Given the description of an element on the screen output the (x, y) to click on. 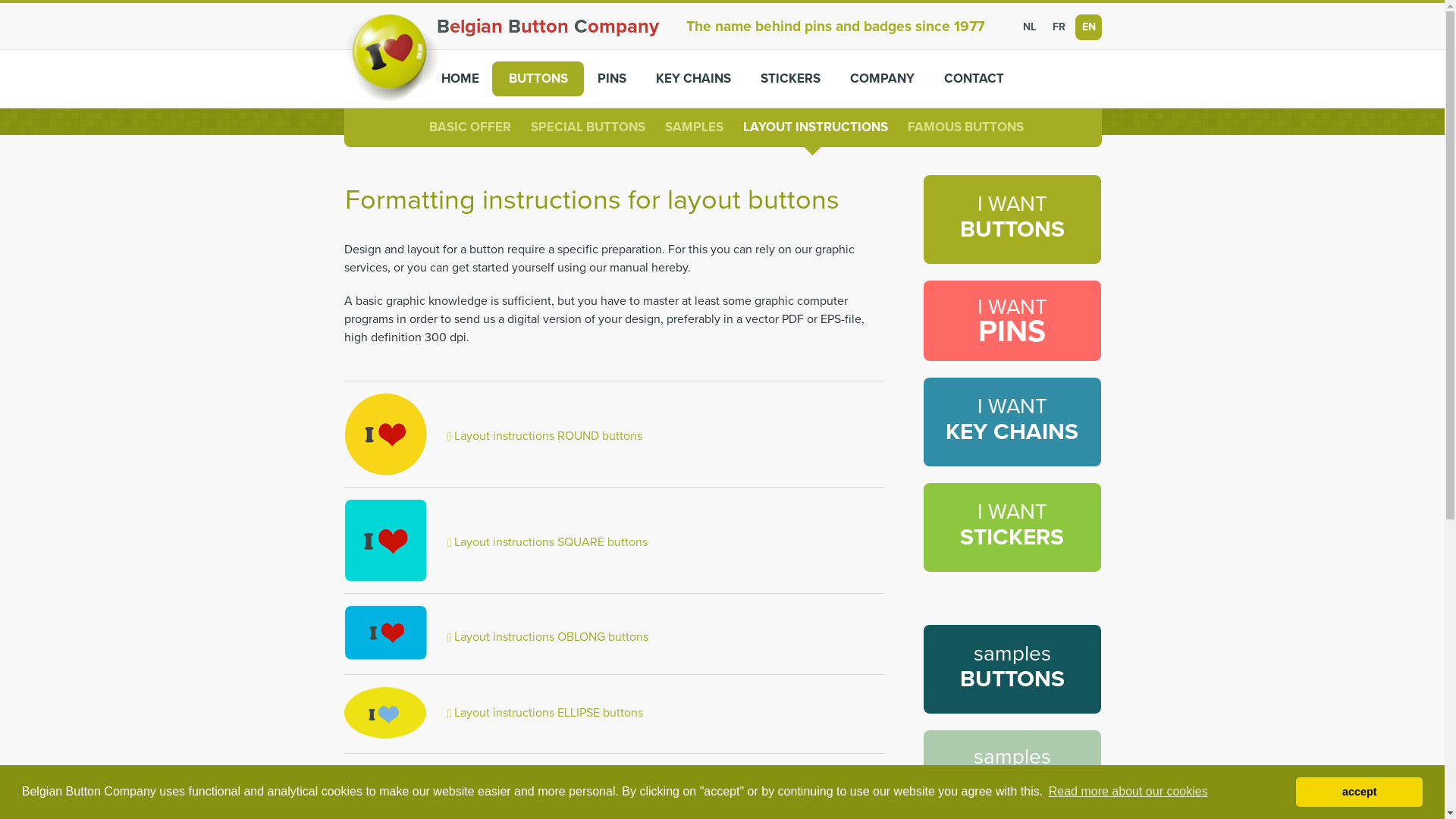
LAYOUT INSTRUCTIONS Element type: text (815, 127)
I WANT
STICKERS Element type: text (1012, 527)
I WANT
BUTTONS Element type: text (1012, 219)
NL Element type: text (1028, 27)
FAMOUS BUTTONS Element type: text (965, 127)
PINS Element type: text (611, 78)
I WANT
KEY CHAINS Element type: text (1012, 421)
I WANT
PINS Element type: text (1012, 320)
FR Element type: text (1057, 27)
KEY CHAINS Element type: text (692, 78)
SPECIAL BUTTONS Element type: text (587, 127)
Read more about our cookies Element type: text (1128, 791)
BUTTONS Element type: text (537, 78)
EN Element type: text (1088, 27)
I Element type: text (381, 45)
samples
BUTTONS Element type: text (1012, 668)
STICKERS Element type: text (789, 78)
HOME Element type: text (459, 78)
samples
PINS Element type: text (1012, 770)
CONTACT Element type: text (972, 78)
BASIC OFFER Element type: text (470, 127)
COMPANY Element type: text (880, 78)
SAMPLES Element type: text (694, 127)
accept Element type: text (1358, 791)
